Given the description of an element on the screen output the (x, y) to click on. 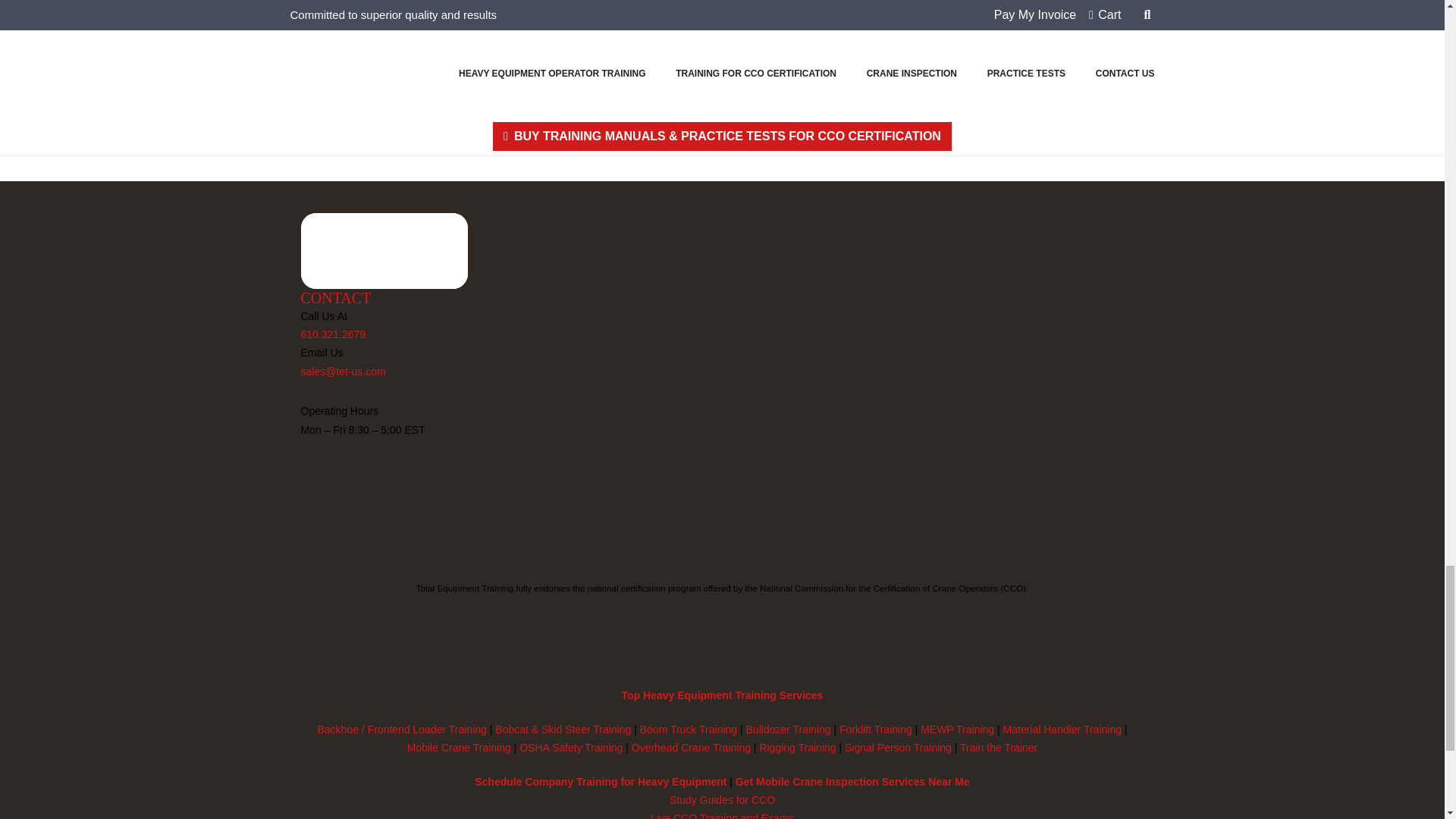
Contact Total Equipment Training (335, 297)
